Given the description of an element on the screen output the (x, y) to click on. 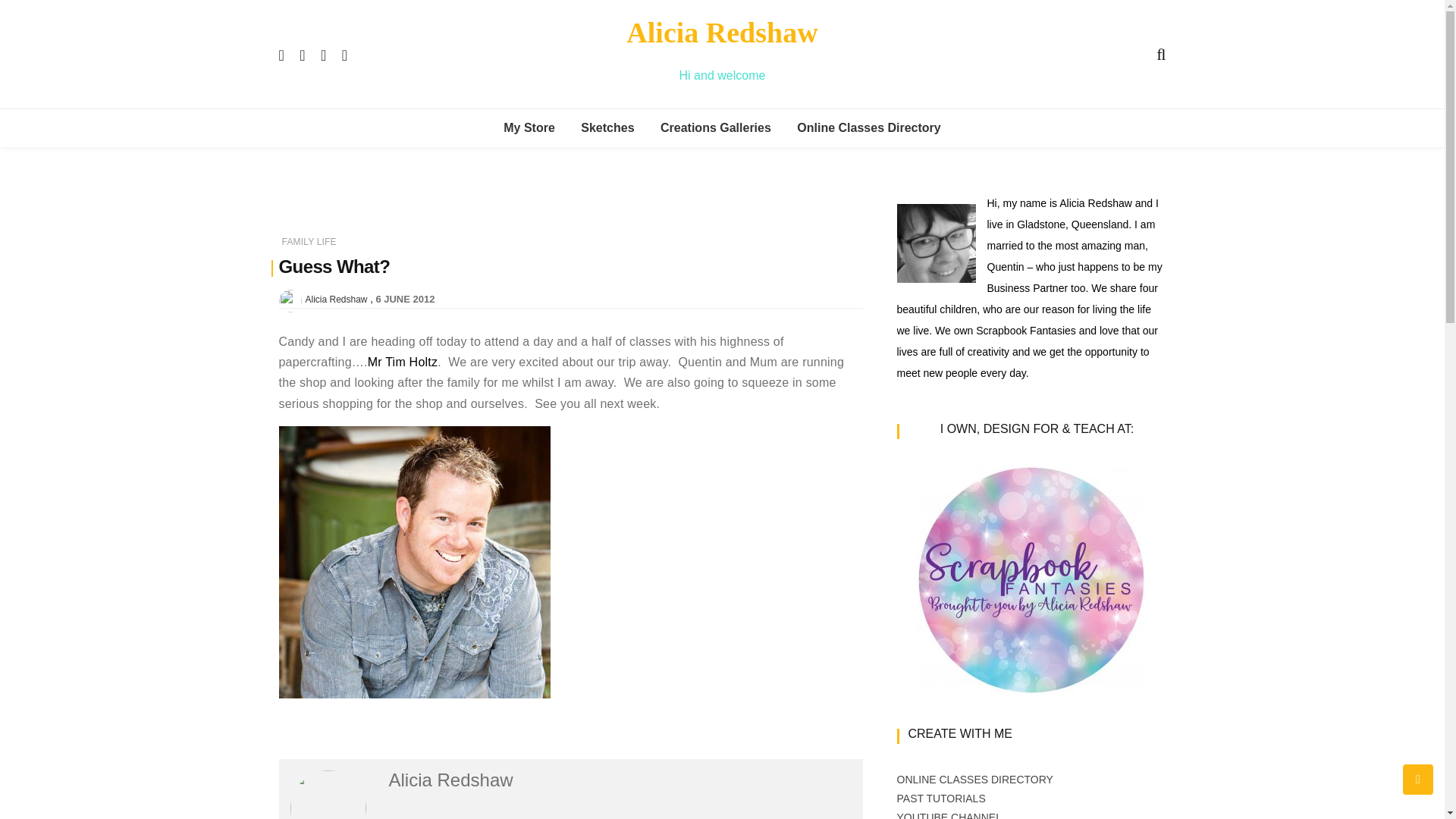
My Store (529, 127)
Alicia Redshaw (721, 32)
2017 Creations (743, 266)
2015 Creations (743, 334)
2018 Creations (743, 232)
Online Classes Directory (869, 127)
Sketches (743, 368)
Tim Holtz (403, 361)
Creations Galleries (716, 127)
2020 Creations (743, 163)
